Given the description of an element on the screen output the (x, y) to click on. 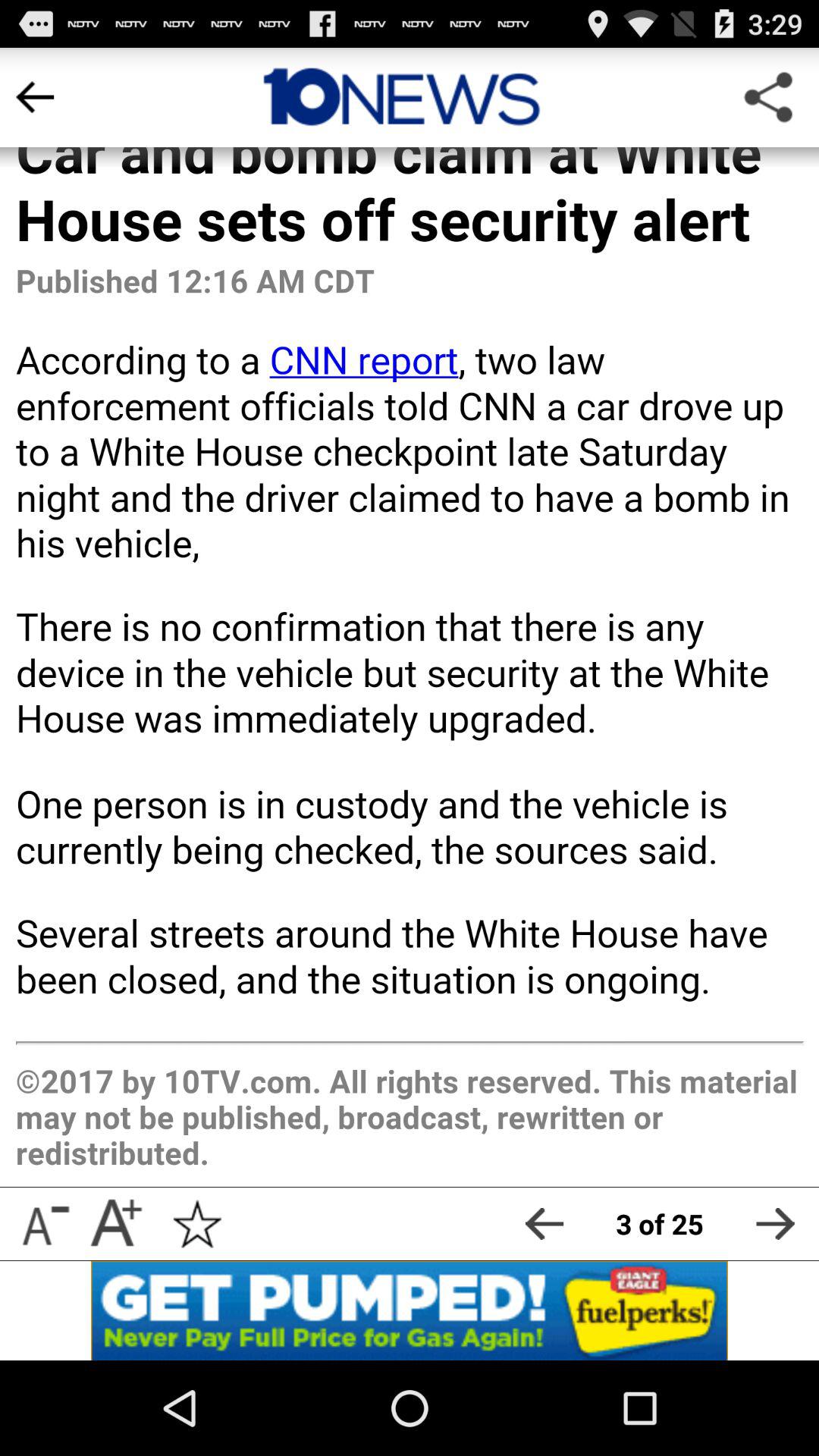
add to favorites (197, 1223)
